Given the description of an element on the screen output the (x, y) to click on. 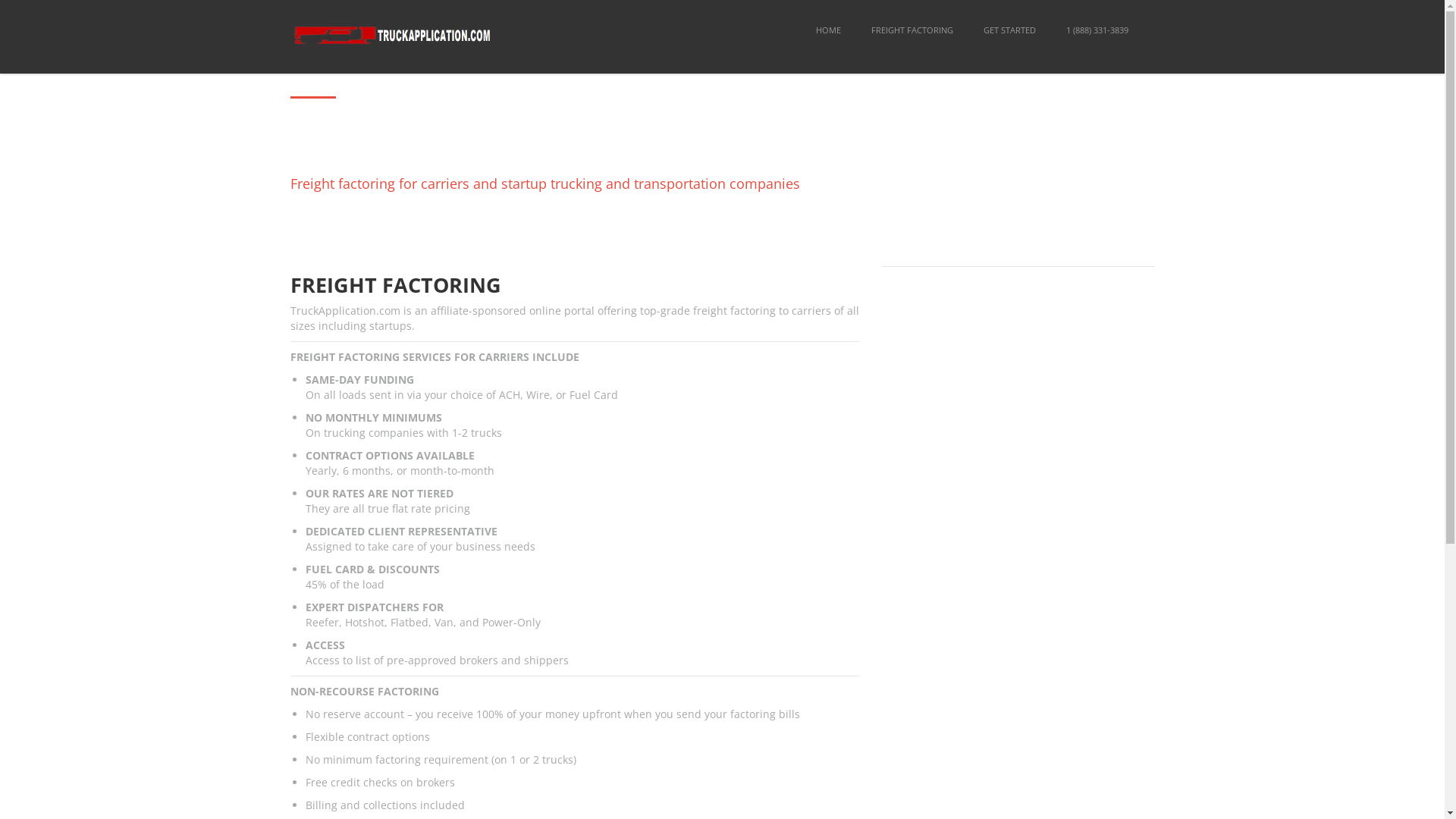
GET STARTED Element type: text (1101, 31)
1 (888) 331-3839 Element type: text (1097, 31)
HOME Element type: text (920, 31)
HOME Element type: text (828, 31)
FREIGHT FACTORING Element type: text (1003, 31)
FREIGHT FACTORING Element type: text (911, 31)
GET STARTED Element type: text (1008, 31)
